Given the description of an element on the screen output the (x, y) to click on. 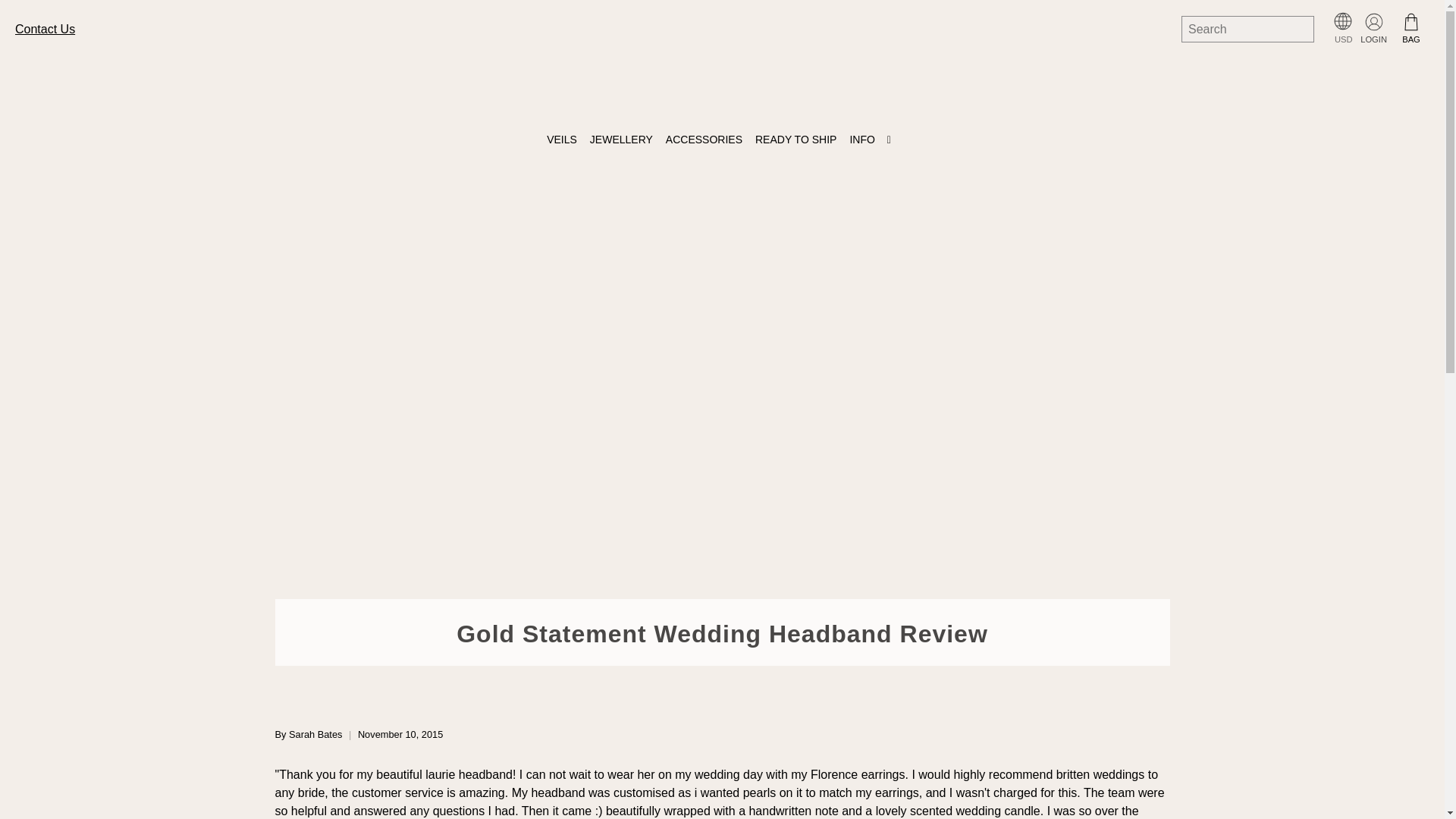
Gold statemnet headband (470, 774)
JEWELLERY (624, 139)
READY TO SHIP (798, 139)
VEILS (564, 139)
ACCESSORIES (706, 139)
gold wedding earrings (857, 774)
Contact Us (44, 29)
INFO (873, 139)
